Given the description of an element on the screen output the (x, y) to click on. 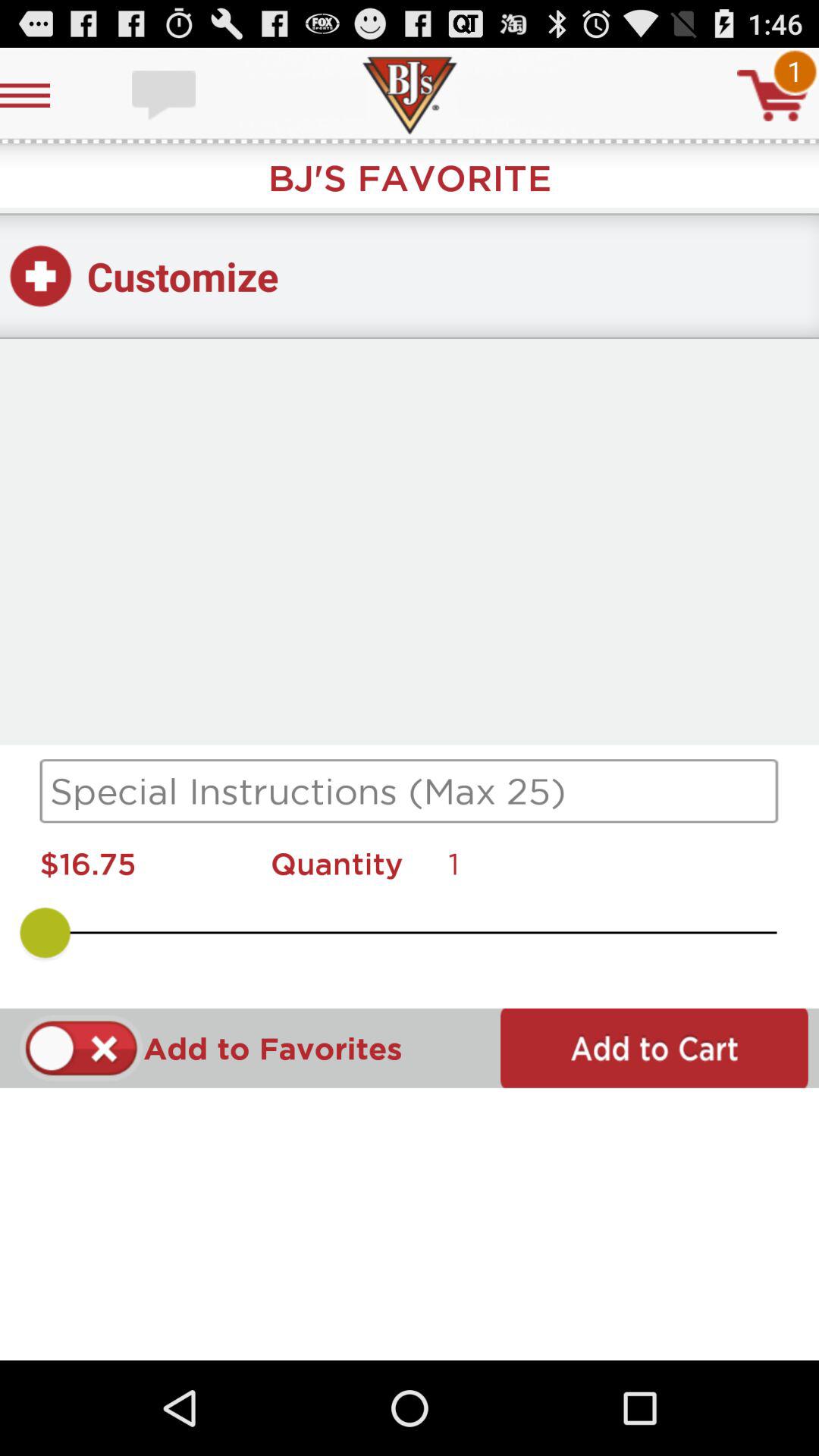
cart (772, 95)
